Given the description of an element on the screen output the (x, y) to click on. 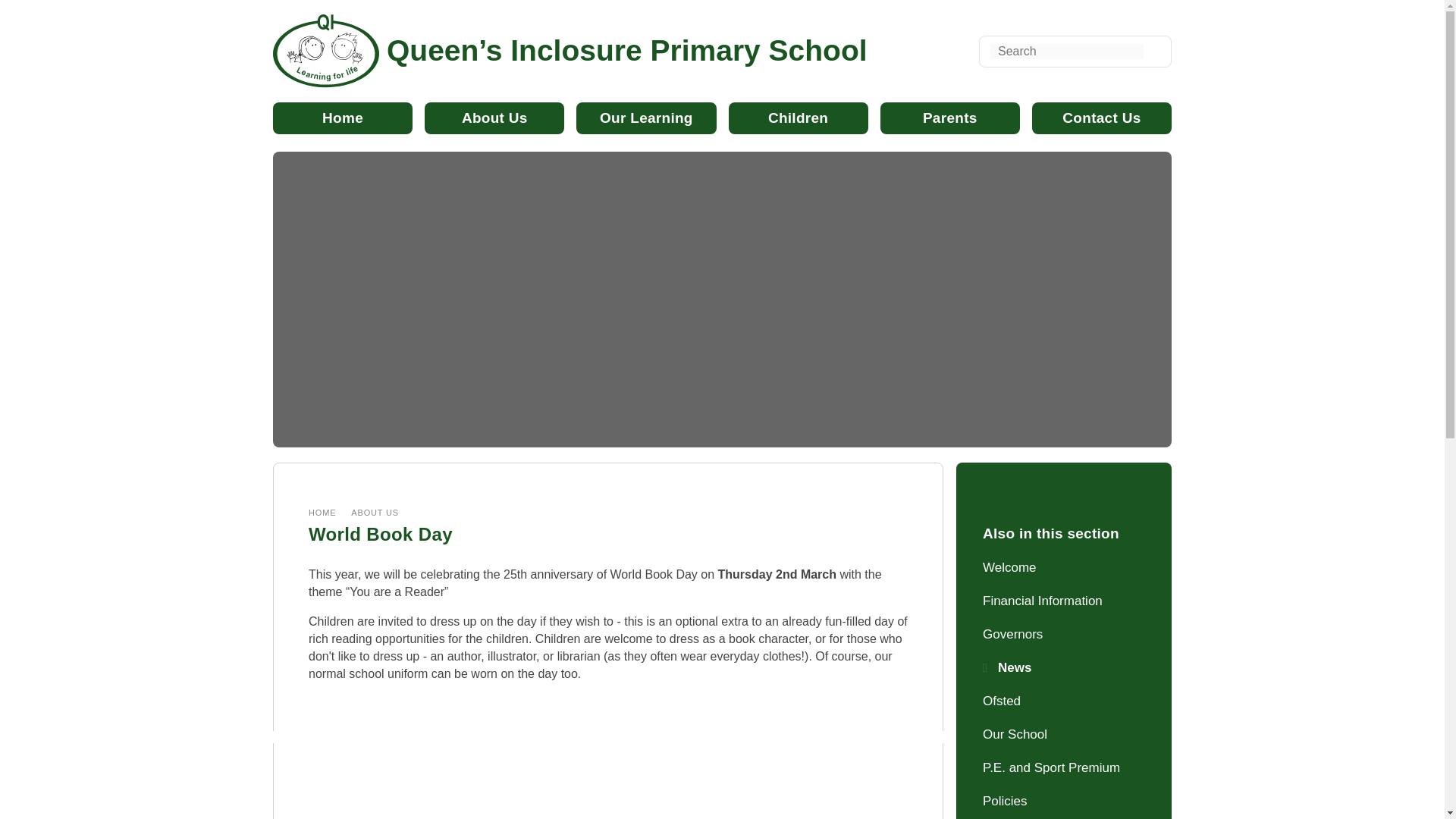
Search (1066, 51)
Home (342, 118)
About Us (494, 118)
